Given the description of an element on the screen output the (x, y) to click on. 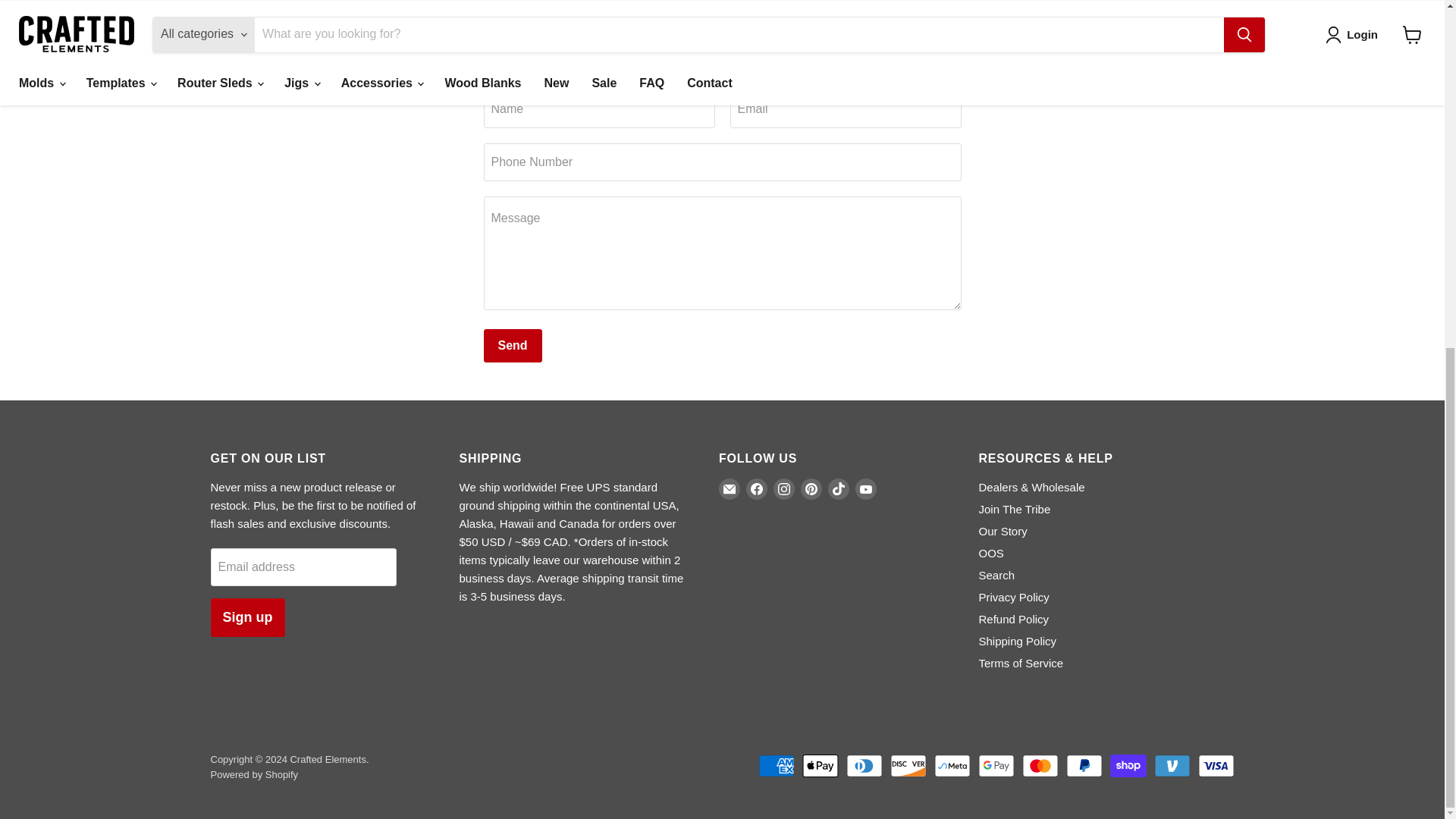
Facebook (756, 488)
Email (729, 488)
